Given the description of an element on the screen output the (x, y) to click on. 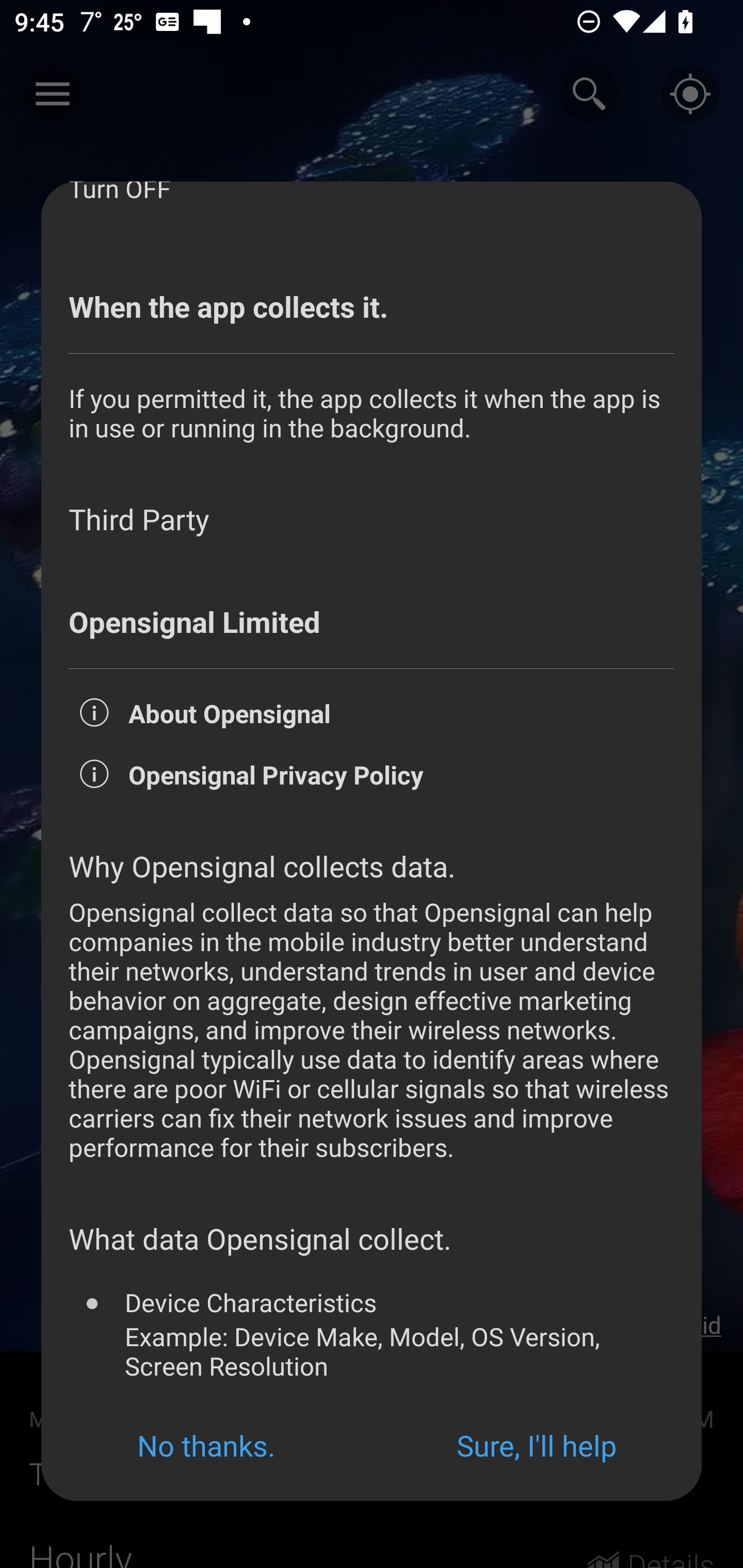
 About Opensignal (371, 726)
 Opensignal Privacy Policy (371, 787)
No thanks. (206, 1444)
Sure, I'll help (536, 1444)
